Given the description of an element on the screen output the (x, y) to click on. 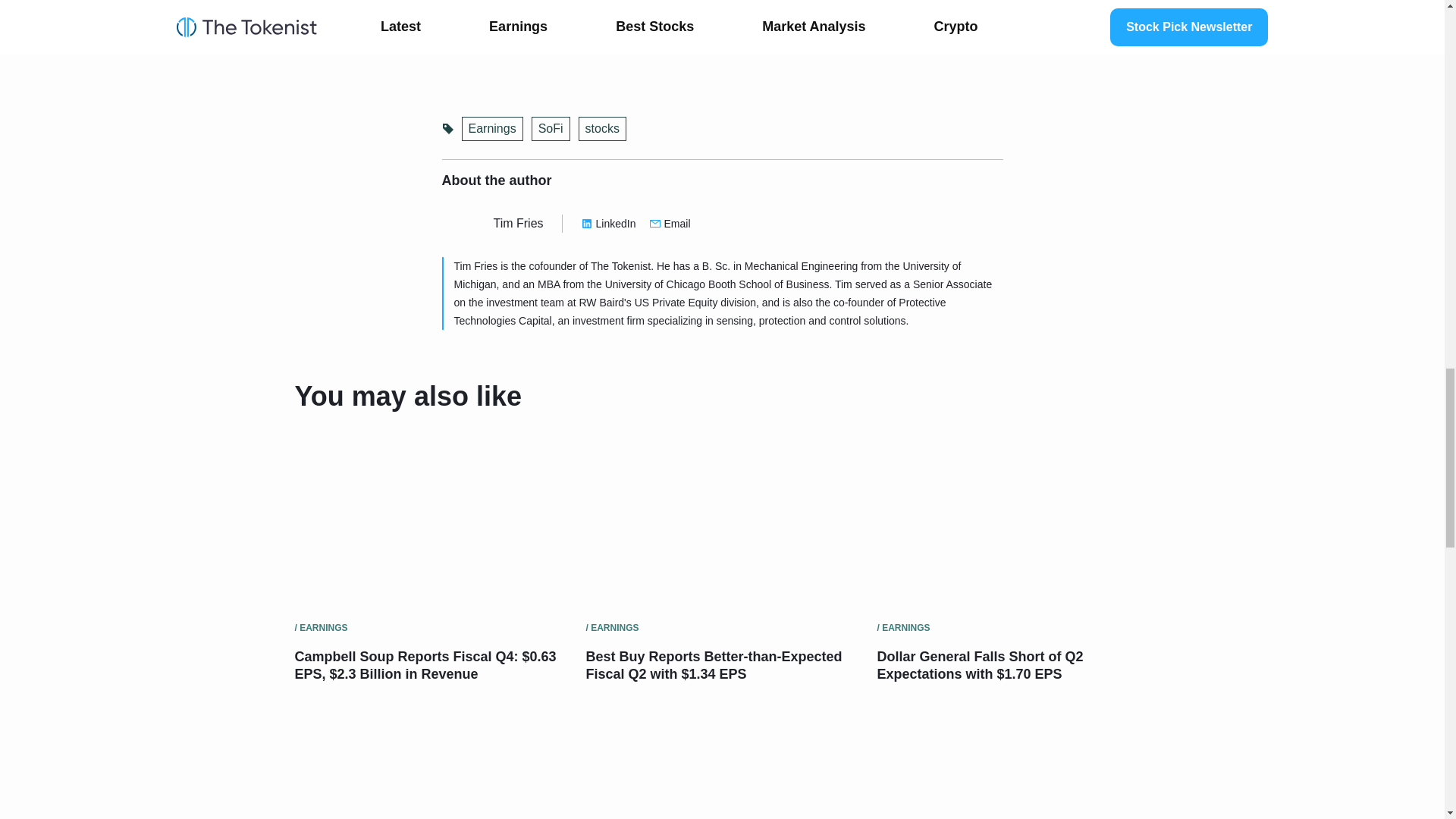
SoFi (550, 128)
stocks (602, 128)
Tim Fries (518, 223)
Earnings (491, 128)
EARNINGS (906, 627)
Email (669, 223)
EARNINGS (323, 627)
LinkedIn (608, 223)
EARNINGS (615, 627)
